Given the description of an element on the screen output the (x, y) to click on. 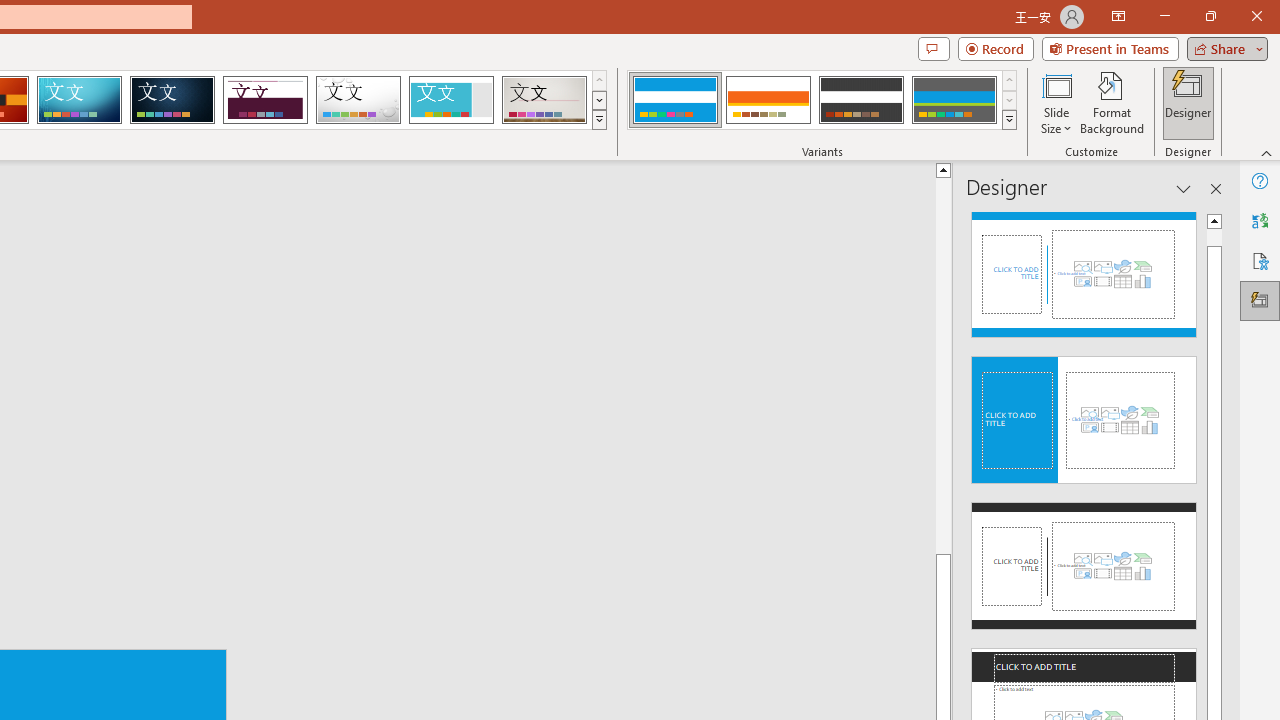
Recommended Design: Design Idea (1083, 268)
Format Background (1111, 102)
Banded Variant 3 (861, 100)
Dividend (265, 100)
AutomationID: ThemeVariantsGallery (822, 99)
Slide Size (1056, 102)
